Given the description of an element on the screen output the (x, y) to click on. 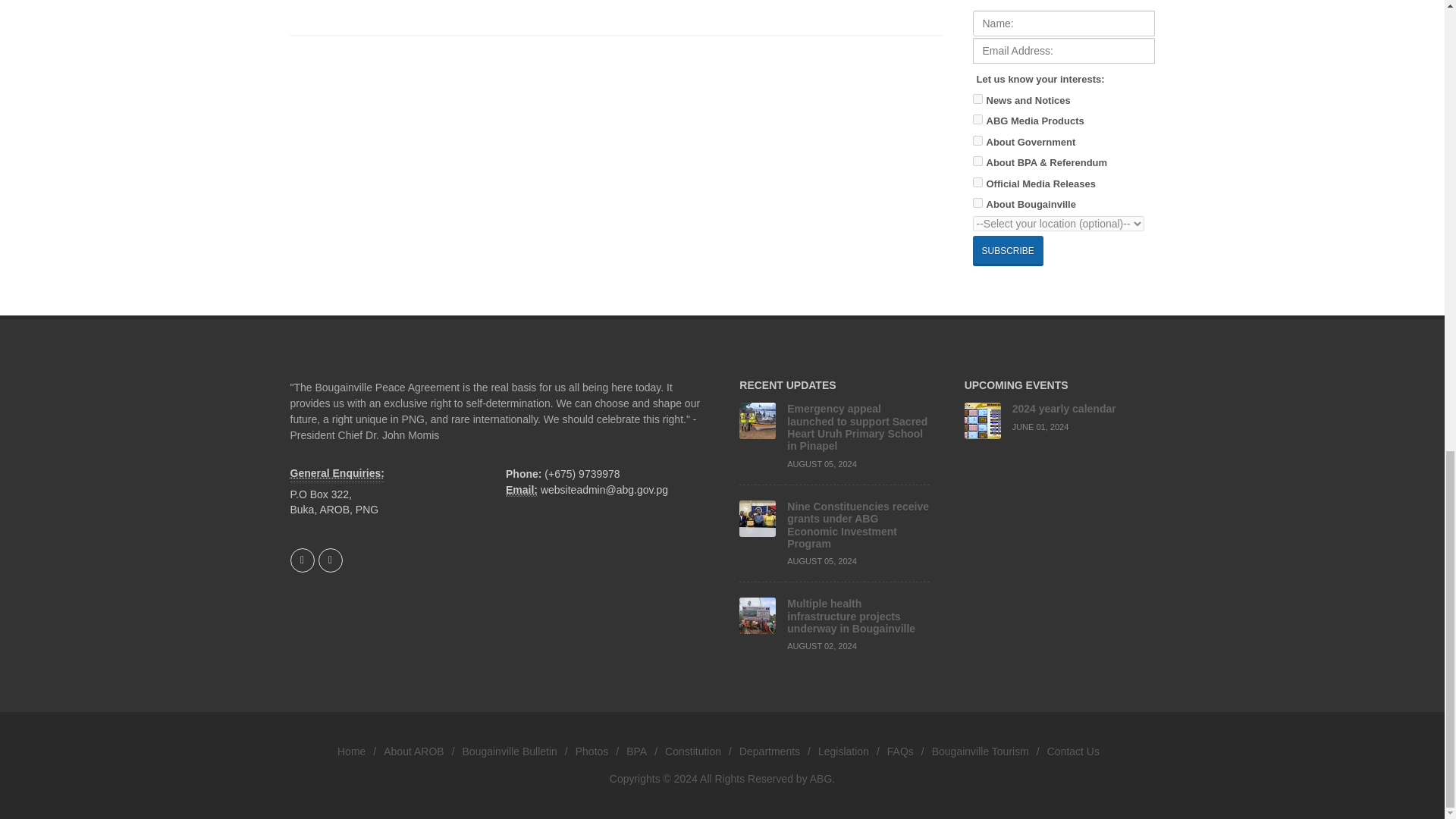
475950 (976, 203)
Headquarters (336, 474)
475948 (976, 140)
475946 (976, 119)
475947 (976, 161)
475945 (976, 99)
475949 (976, 182)
